Given the description of an element on the screen output the (x, y) to click on. 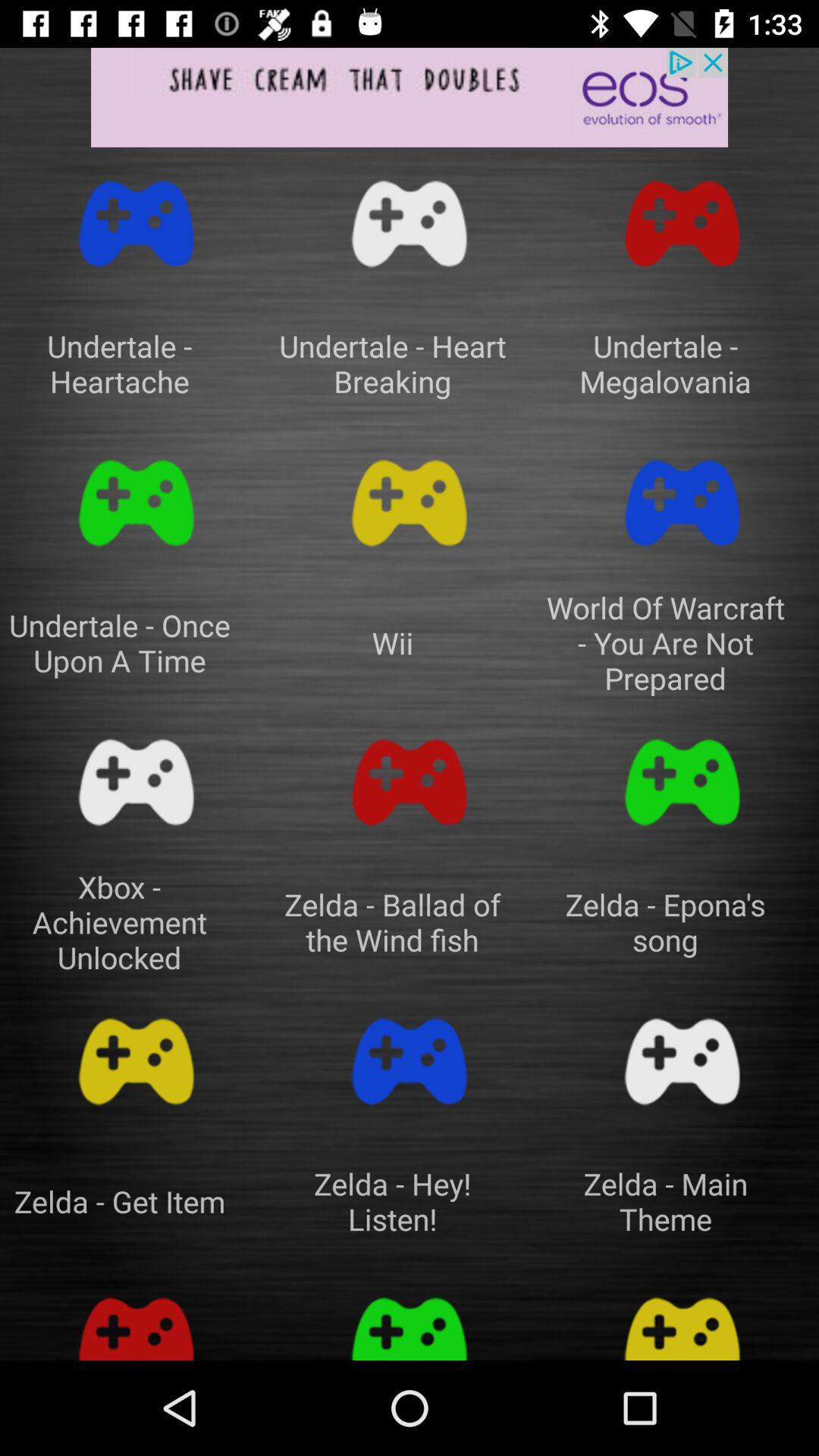
game option (682, 1320)
